Given the description of an element on the screen output the (x, y) to click on. 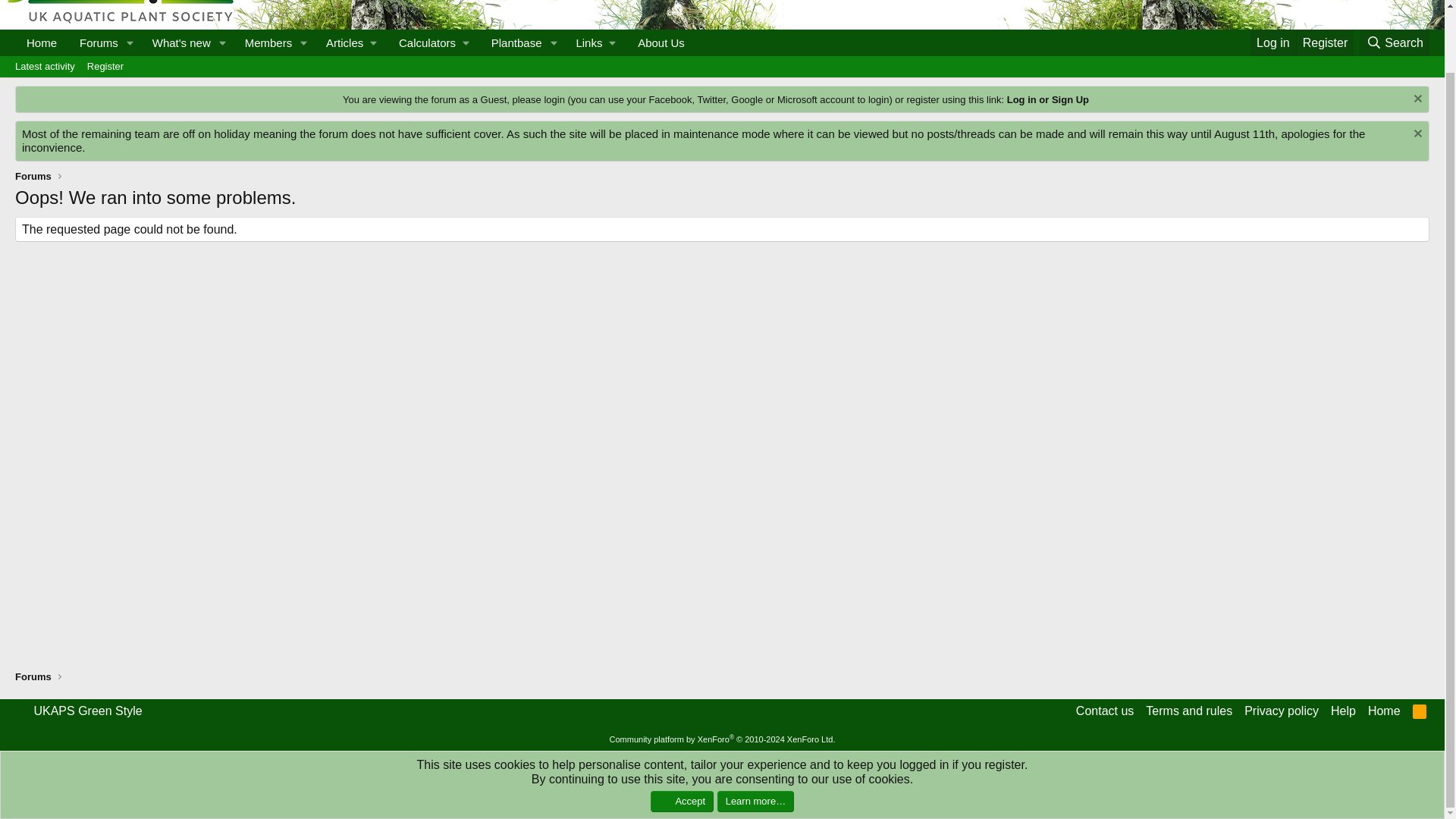
Calculators (433, 43)
What's new (176, 43)
Home (41, 43)
RSS (1419, 710)
Forums (93, 43)
Articles (721, 83)
Search (350, 43)
Members (1394, 42)
